Given the description of an element on the screen output the (x, y) to click on. 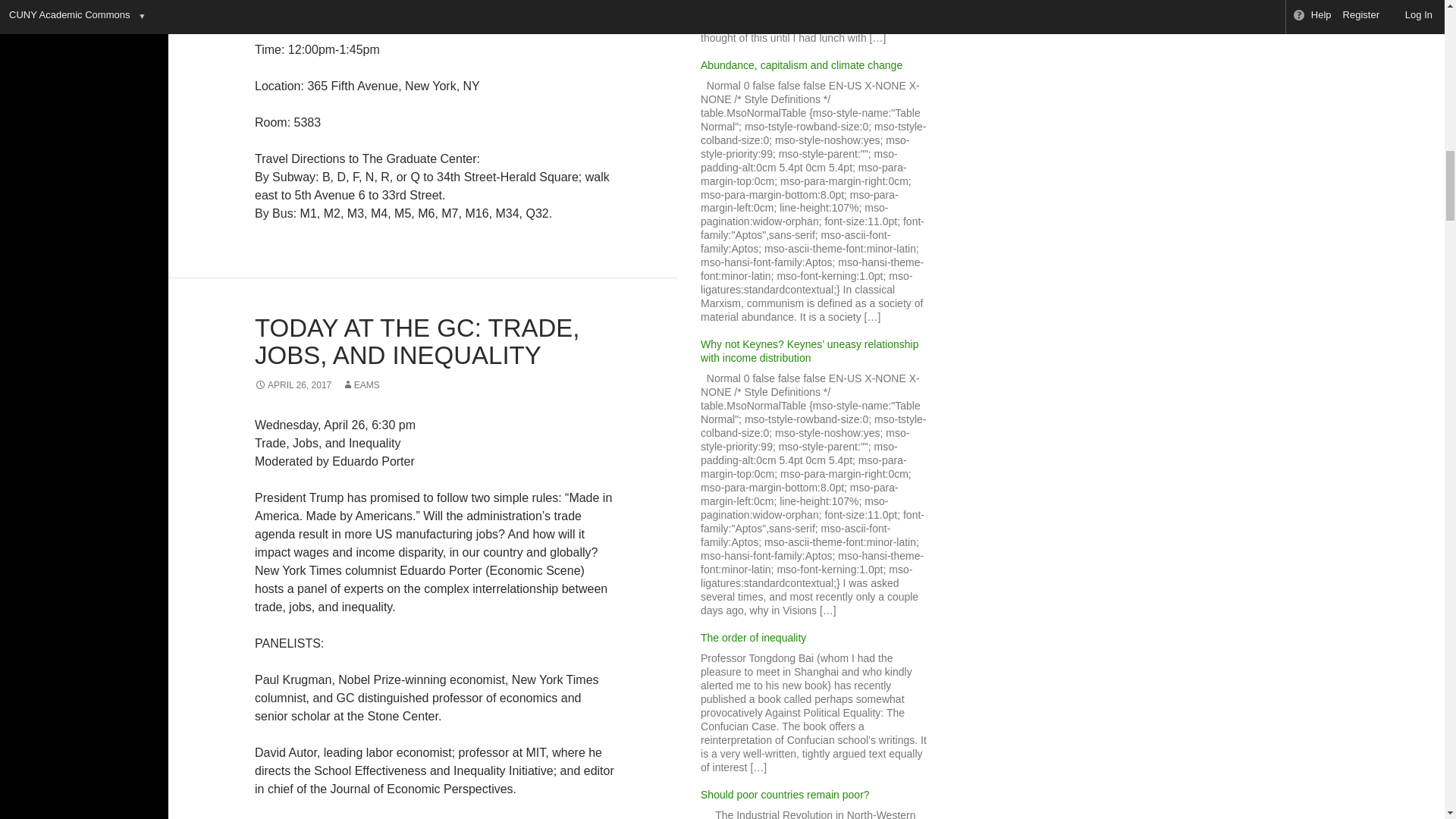
APRIL 26, 2017 (292, 385)
EAMS (361, 385)
TODAY AT THE GC: TRADE, JOBS, AND INEQUALITY (416, 341)
